Given the description of an element on the screen output the (x, y) to click on. 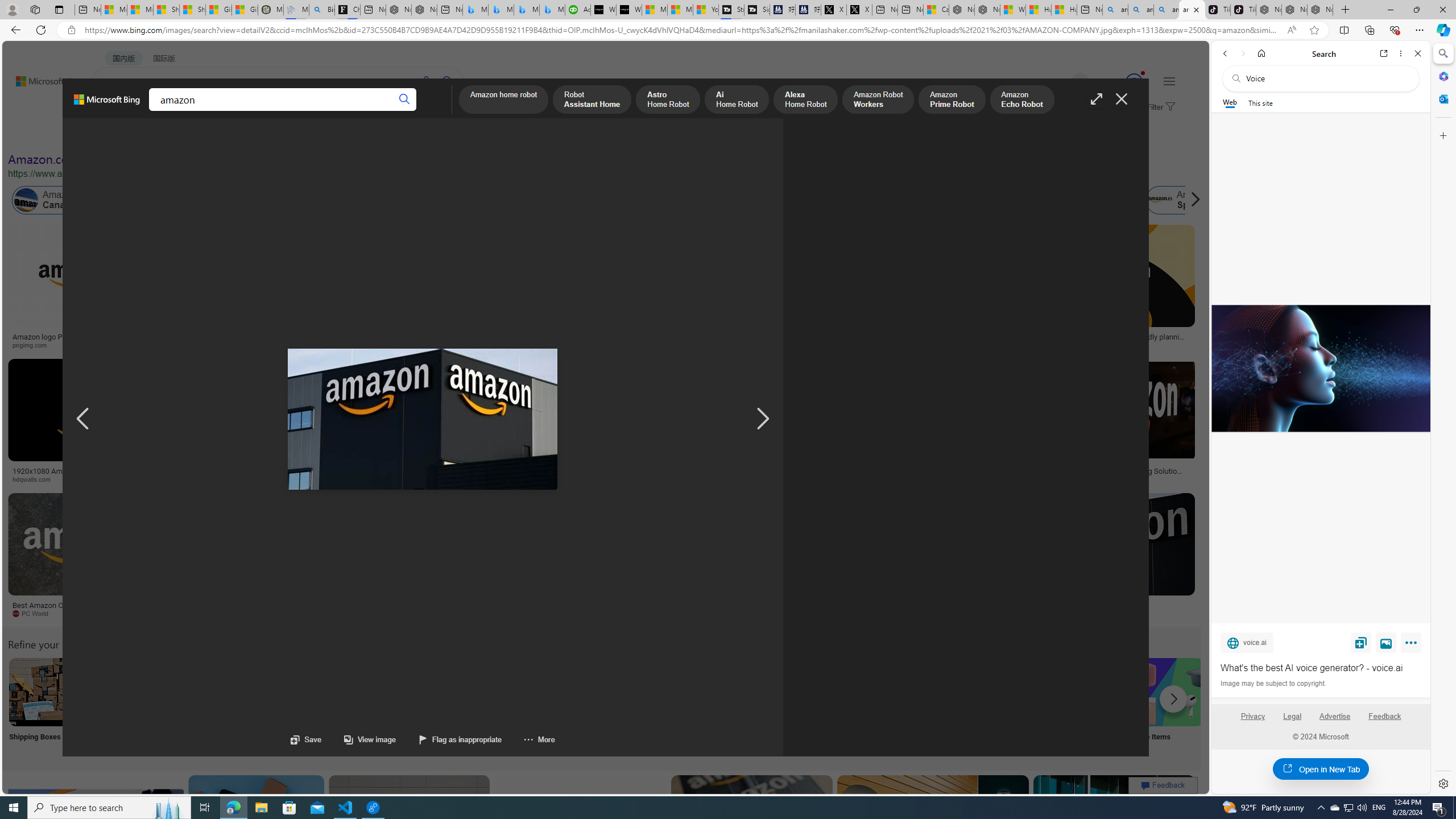
Type (212, 135)
Amazon Online Shopping Homepage Online Shopping Homepage (868, 706)
Retail Store (493, 706)
logopng.com.br (783, 344)
Manatee Mortality Statistics | FWC (270, 9)
Amazon Labor Law Violation in California (642, 199)
Amazon Sign in My Account Sign My Account (718, 706)
Amazon Forest (999, 200)
Kindle Paperwhite Case (673, 298)
Amazon Shipping Boxes (42, 691)
Two Reasons Why Retailers Need to Leverage Amazon (224, 340)
Amazon Shoes (1079, 200)
View site information (70, 29)
